Given the description of an element on the screen output the (x, y) to click on. 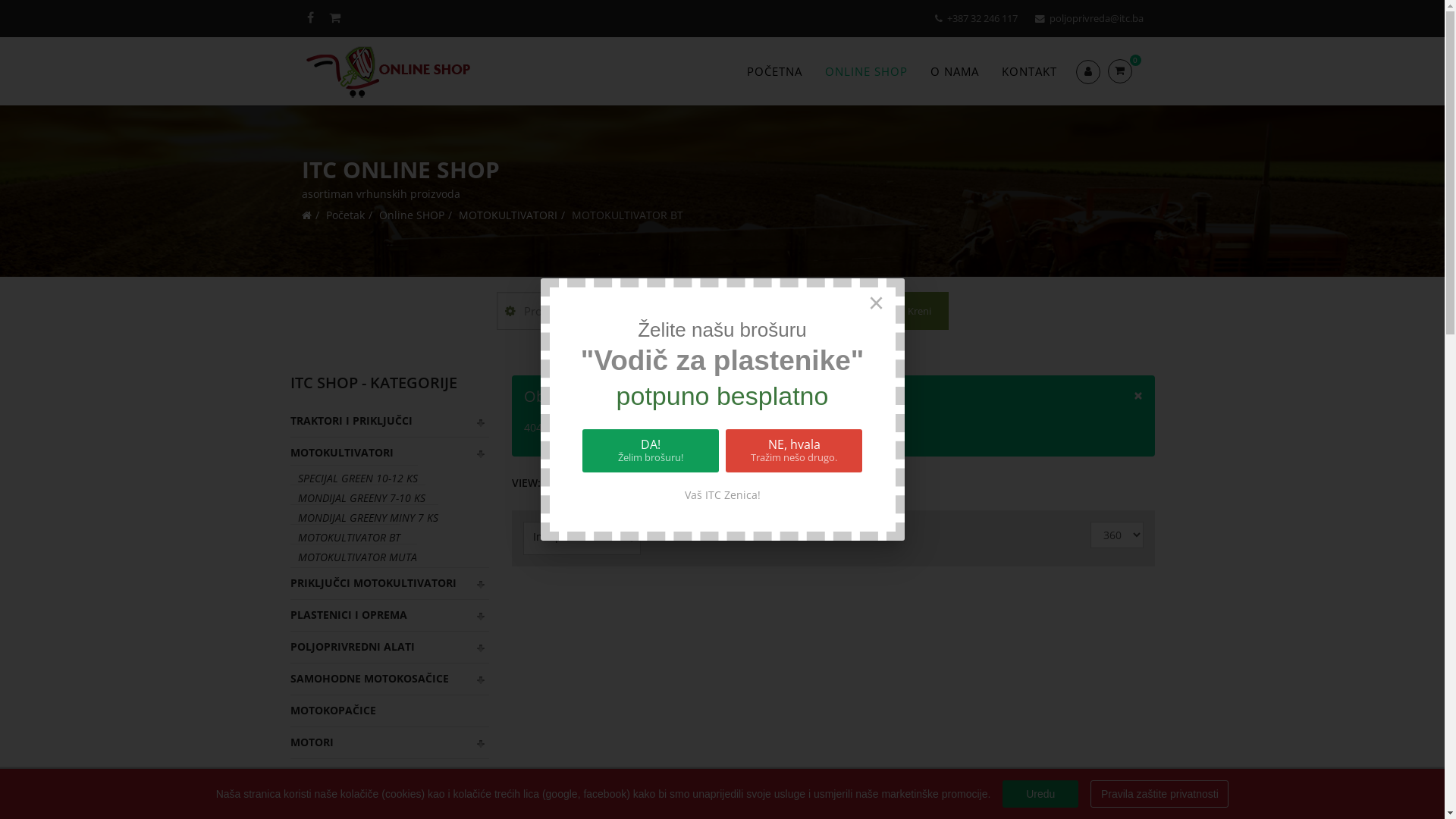
MONDIJAL GREENY MINY 7 KS Element type: text (363, 517)
MONDIJAL GREENY 7-10 KS Element type: text (356, 497)
Ime proizvoda +/- Element type: text (577, 536)
PLASTENICI I OPREMA Element type: text (389, 614)
MOTOKULTIVATOR MUTA Element type: text (352, 556)
Uredu Element type: text (1040, 793)
Online SHOP Element type: text (411, 214)
OPREMA ZA MLJEKARSTVO Element type: text (389, 774)
0 Element type: text (1124, 71)
MOTOKULTIVATOR BT Element type: text (344, 537)
KONTAKT Element type: text (1029, 71)
poljoprivreda@itc.ba Element type: text (1096, 18)
O NAMA Element type: text (954, 71)
MOTORI Element type: text (389, 742)
ONLINE SHOP Element type: text (865, 71)
SPECIJAL GREEN 10-12 KS Element type: text (353, 477)
Kreni Element type: text (911, 310)
+387 32 246 117 Element type: text (981, 18)
MOTOKULTIVATORI Element type: text (389, 452)
POLJOPRIVREDNI ALATI Element type: text (389, 646)
MOTOKULTIVATORI Element type: text (507, 214)
